Given the description of an element on the screen output the (x, y) to click on. 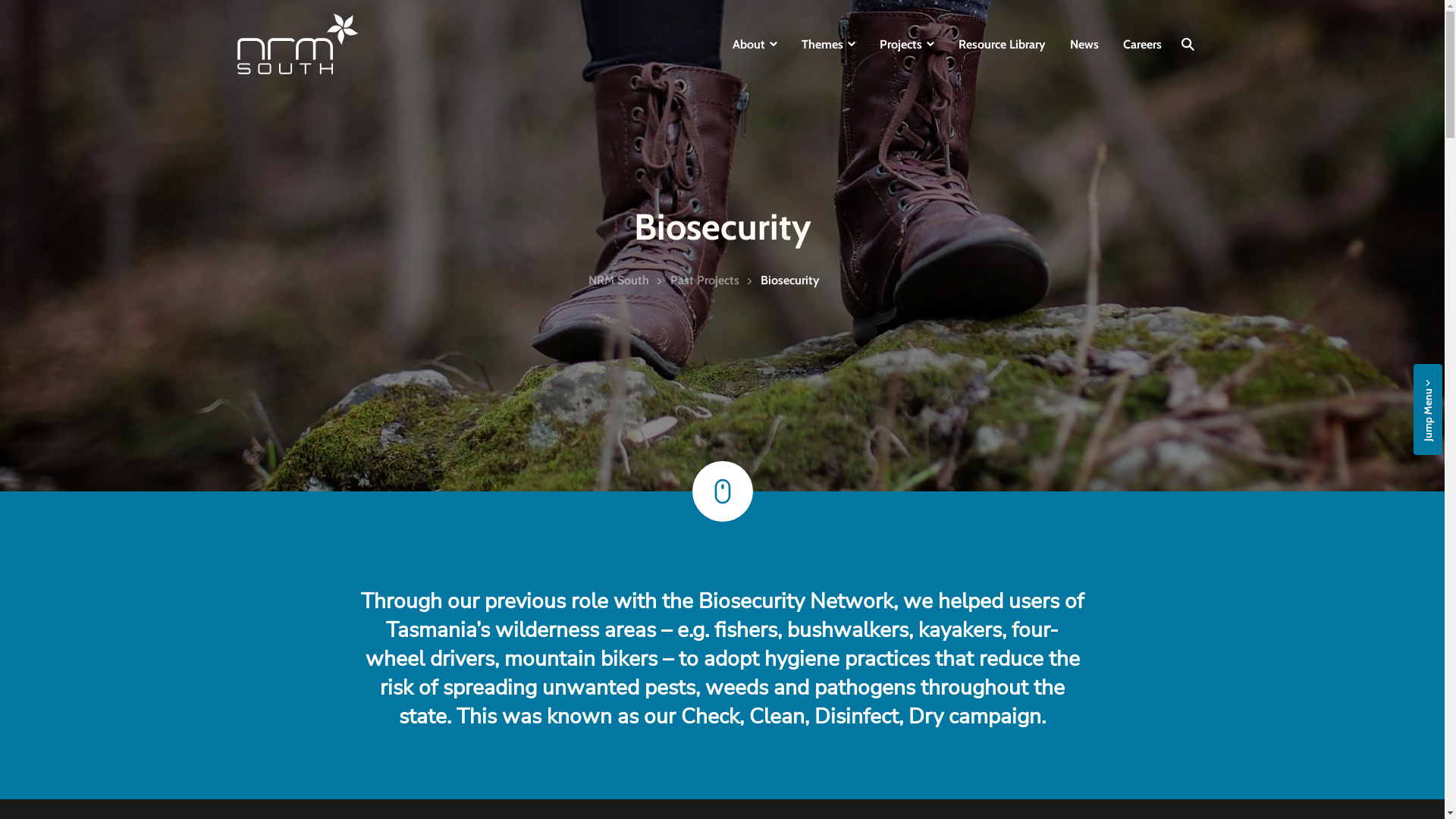
Past Projects Element type: text (704, 280)
Careers Element type: text (1141, 43)
Themes Element type: text (827, 43)
News Element type: text (1083, 43)
Projects Element type: text (906, 43)
NRM South Element type: text (618, 280)
Resource Library Element type: text (1001, 43)
About Element type: text (754, 43)
